Given the description of an element on the screen output the (x, y) to click on. 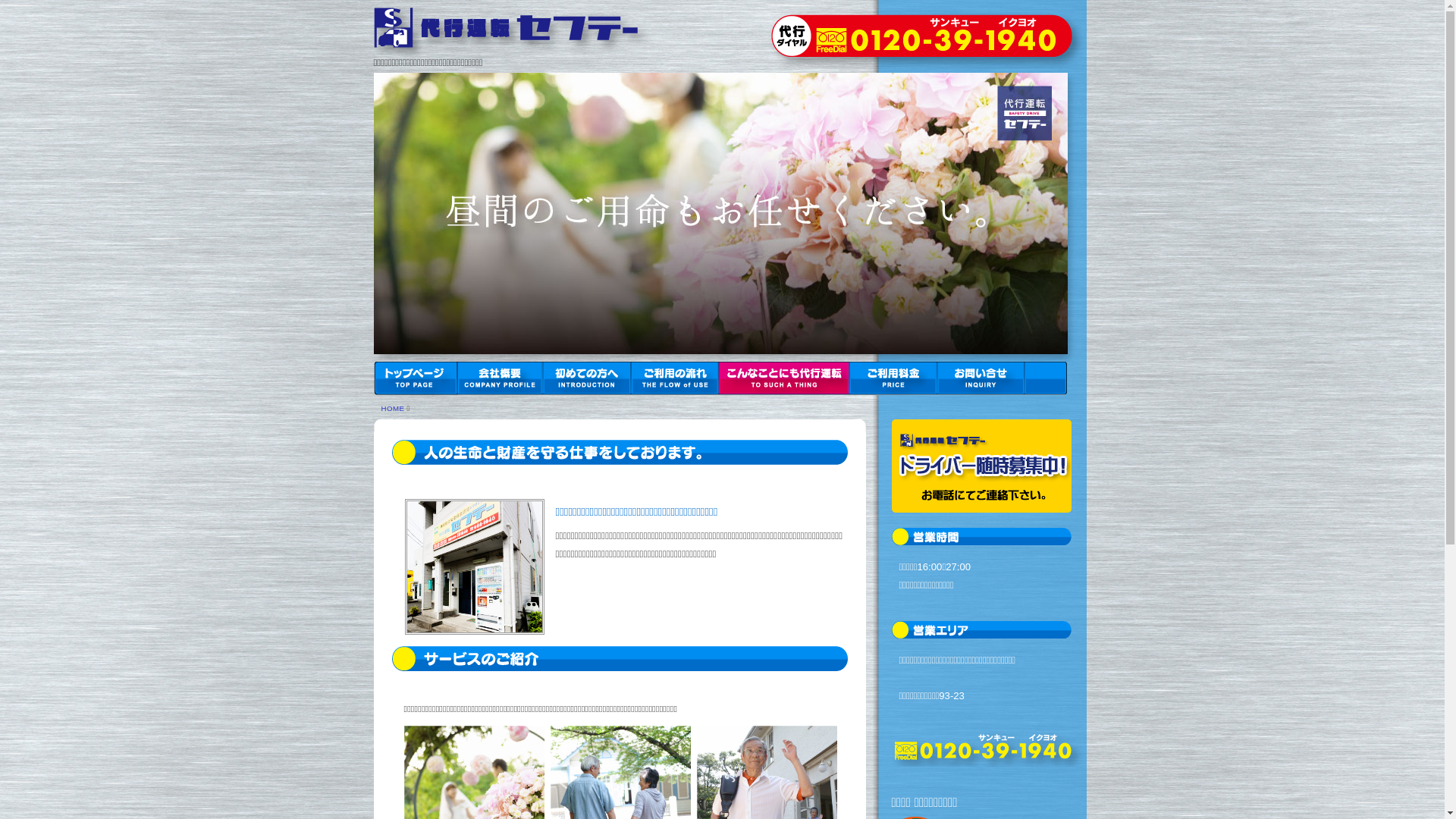
HOME Element type: text (392, 408)
